Given the description of an element on the screen output the (x, y) to click on. 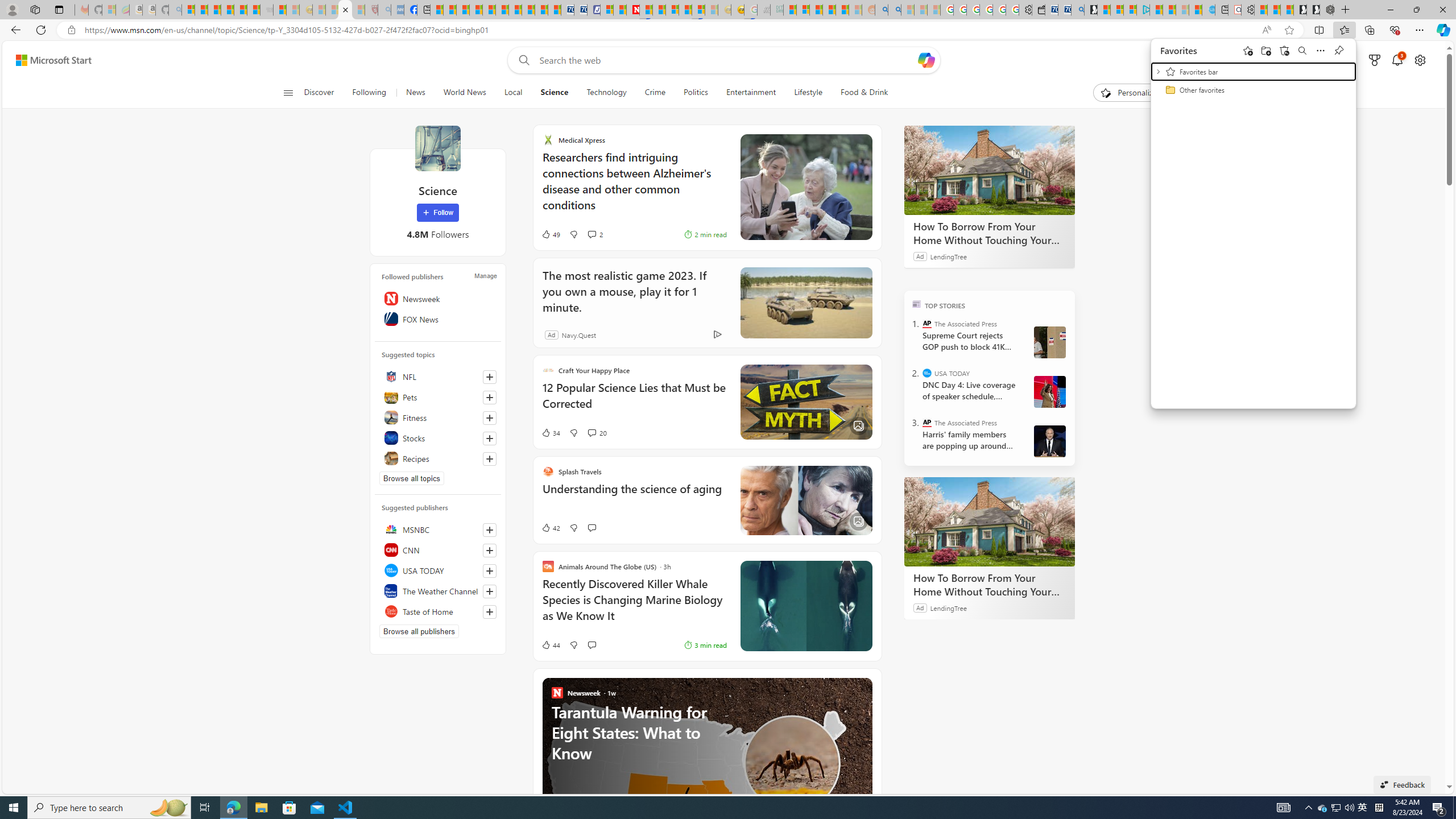
Combat Siege - Sleeping (266, 9)
Add folder (1265, 49)
Running applications (700, 807)
Notification Chevron (1308, 807)
